Given the description of an element on the screen output the (x, y) to click on. 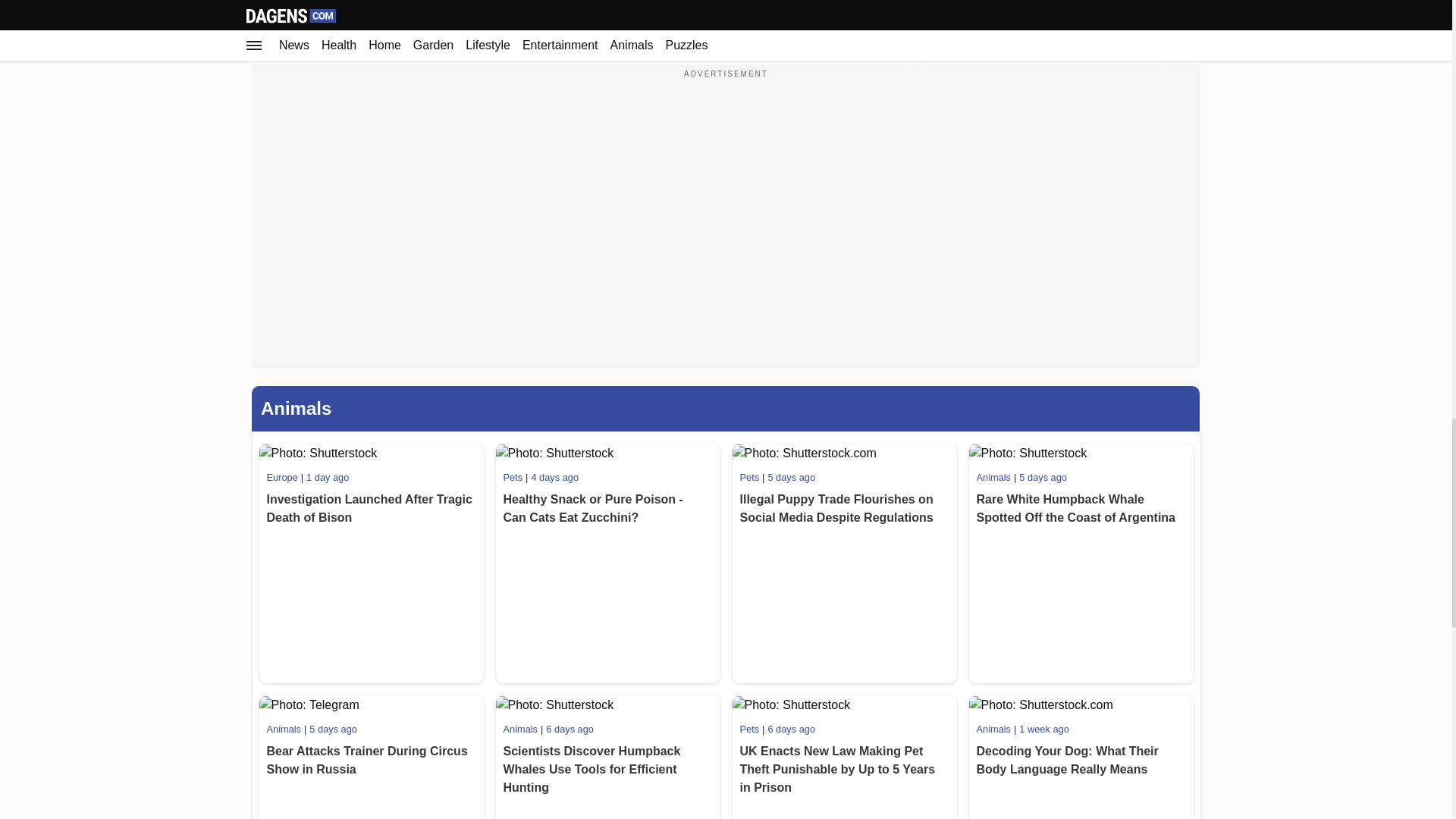
Share on WhatsApp (383, 28)
Share on Facebook (522, 28)
